Given the description of an element on the screen output the (x, y) to click on. 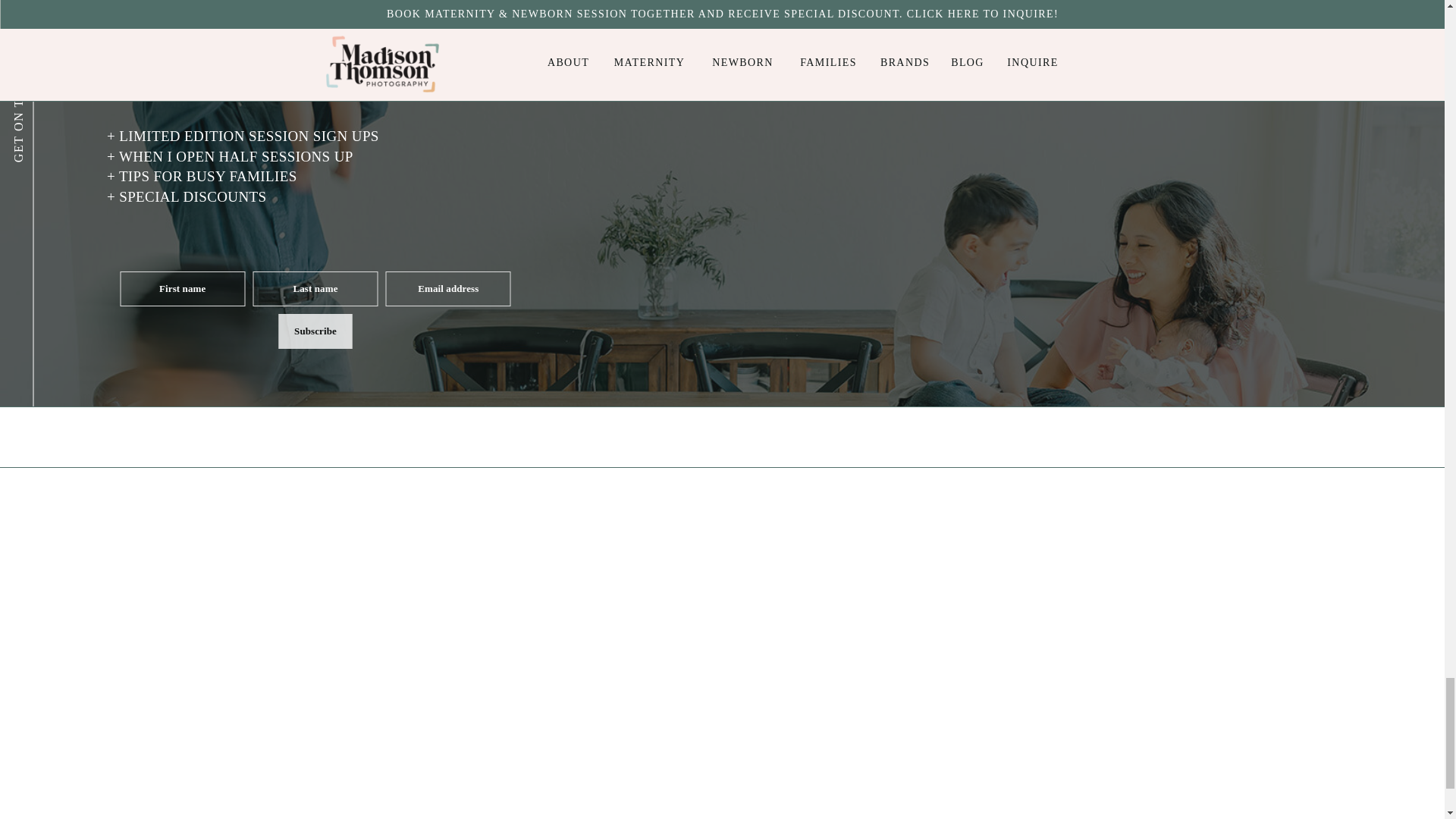
High-Tide-by-Northfolk---00002 (635, 761)
